Given the description of an element on the screen output the (x, y) to click on. 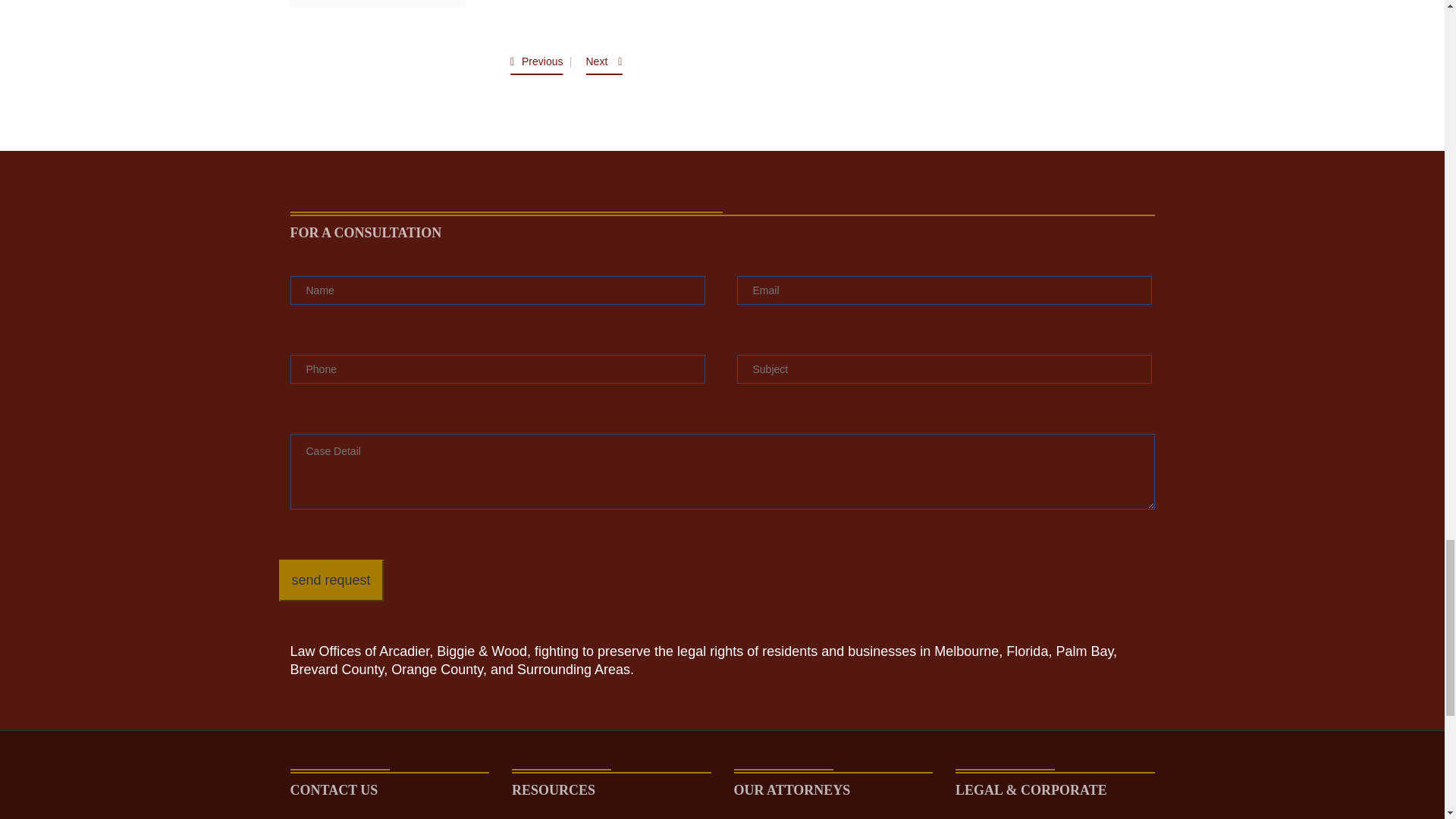
send request (331, 580)
